Given the description of an element on the screen output the (x, y) to click on. 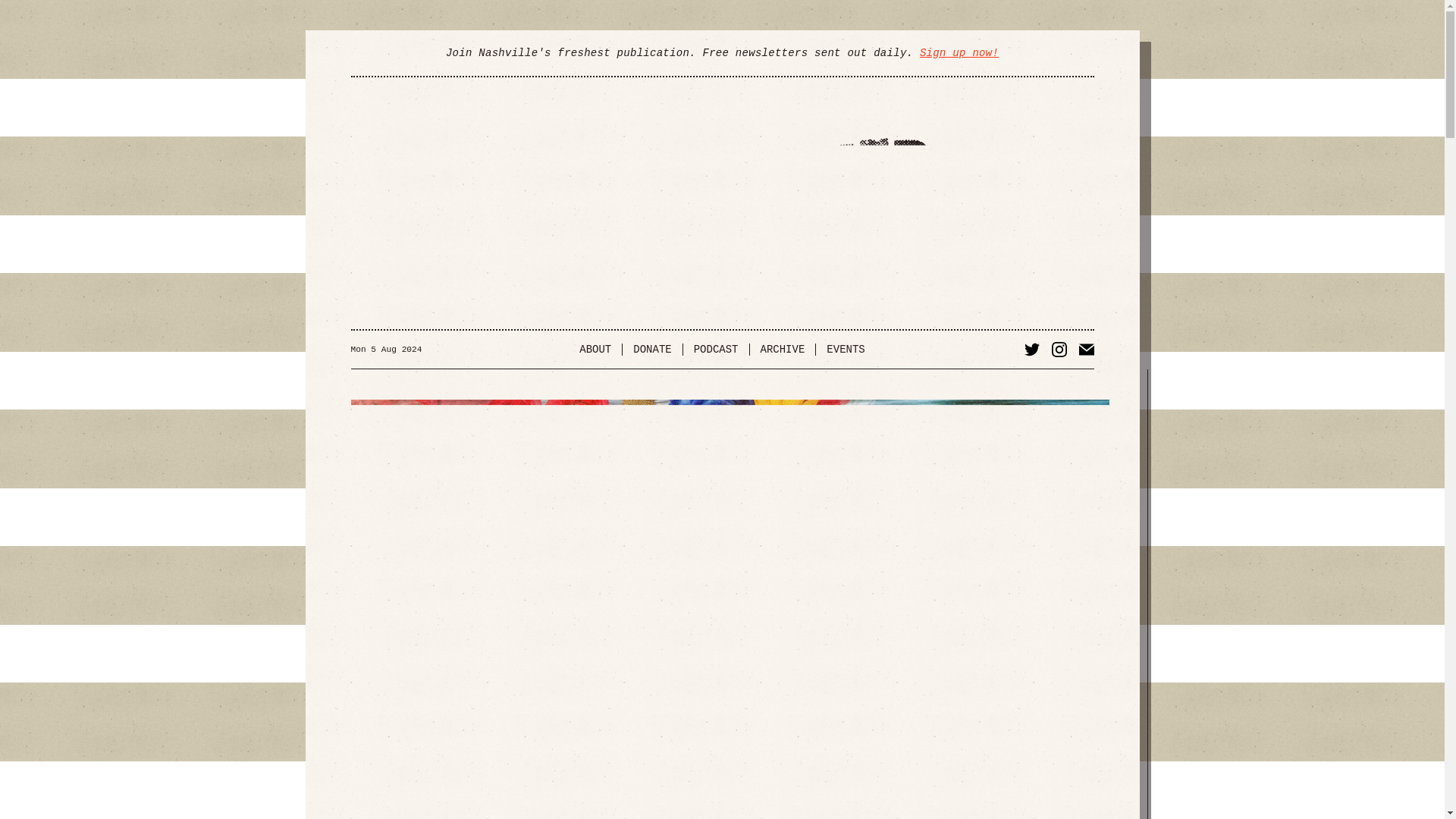
PODCAST (715, 349)
EVENTS (845, 349)
DONATE (652, 349)
ABOUT (596, 349)
ARCHIVE (782, 349)
Sign up now! (959, 52)
